Given the description of an element on the screen output the (x, y) to click on. 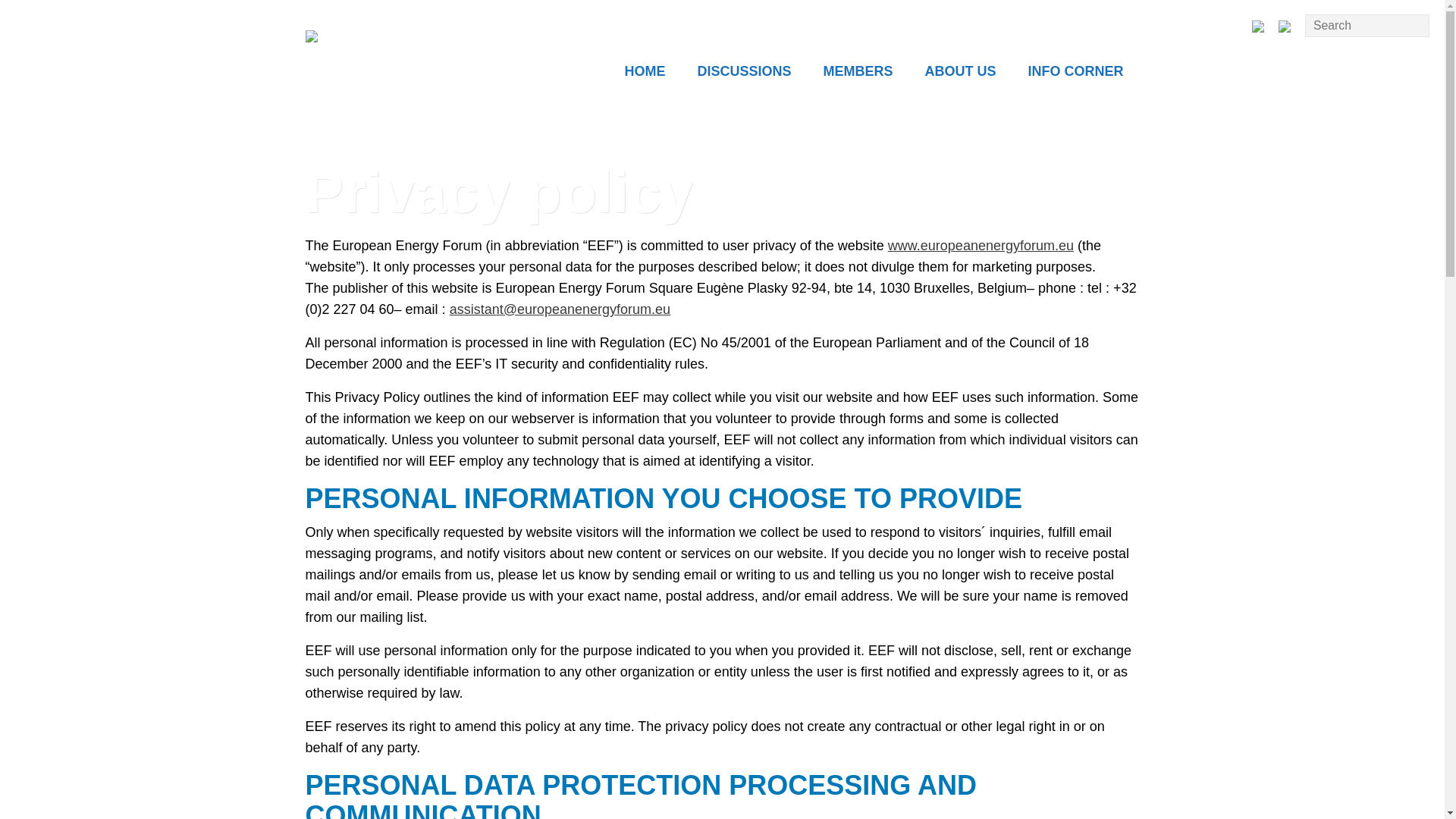
HOME (644, 72)
INFO CORNER (1075, 72)
www.europeanenergyforum.eu (981, 245)
ABOUT US (959, 72)
MEMBERS (857, 72)
DISCUSSIONS (743, 72)
